Given the description of an element on the screen output the (x, y) to click on. 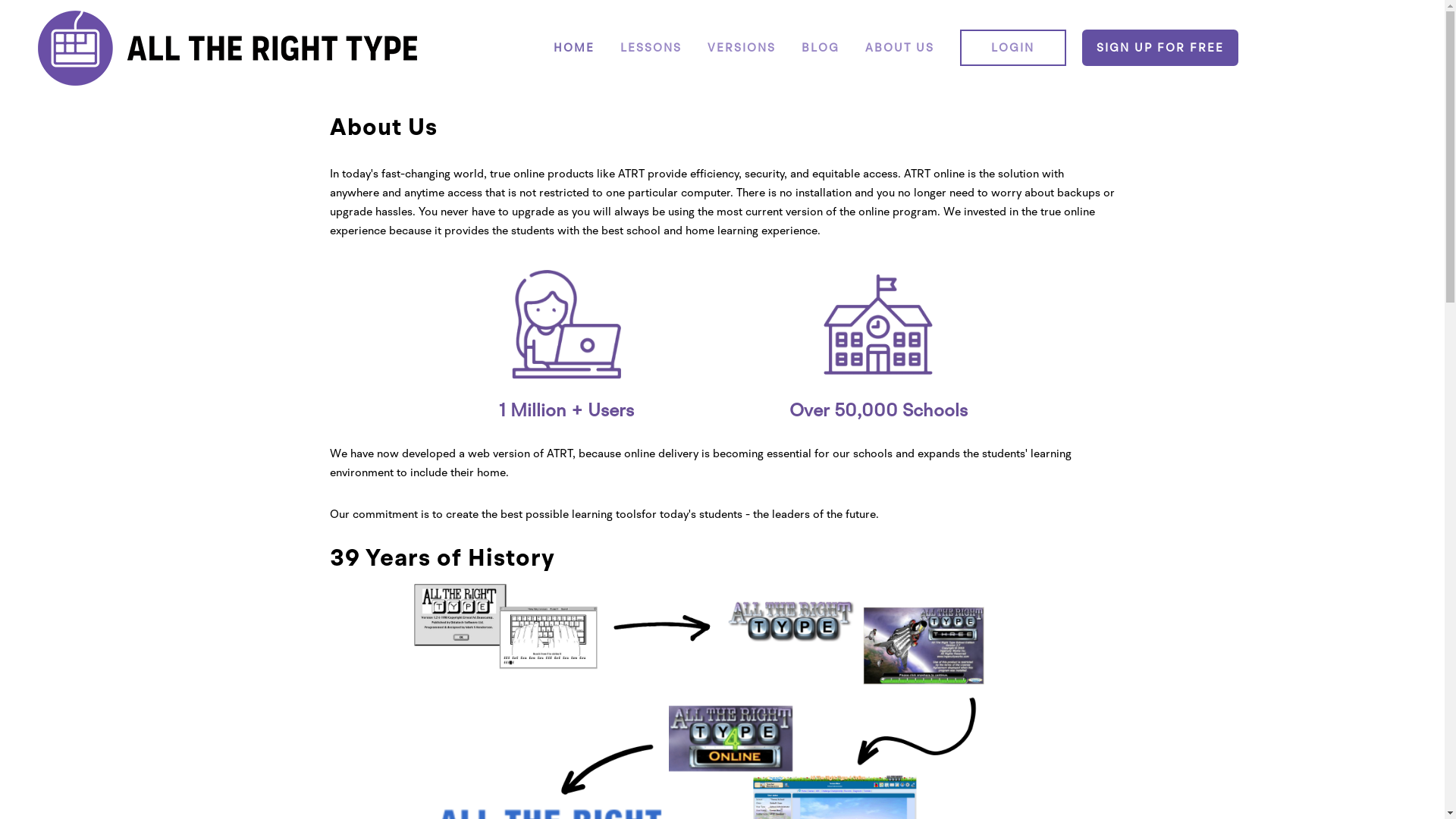
LOGIN Element type: text (1013, 47)
LESSONS Element type: text (650, 47)
HOME Element type: text (573, 47)
SIGN UP FOR FREE Element type: text (1160, 47)
BLOG Element type: text (820, 47)
ABOUT US Element type: text (899, 47)
VERSIONS Element type: text (741, 47)
